Given the description of an element on the screen output the (x, y) to click on. 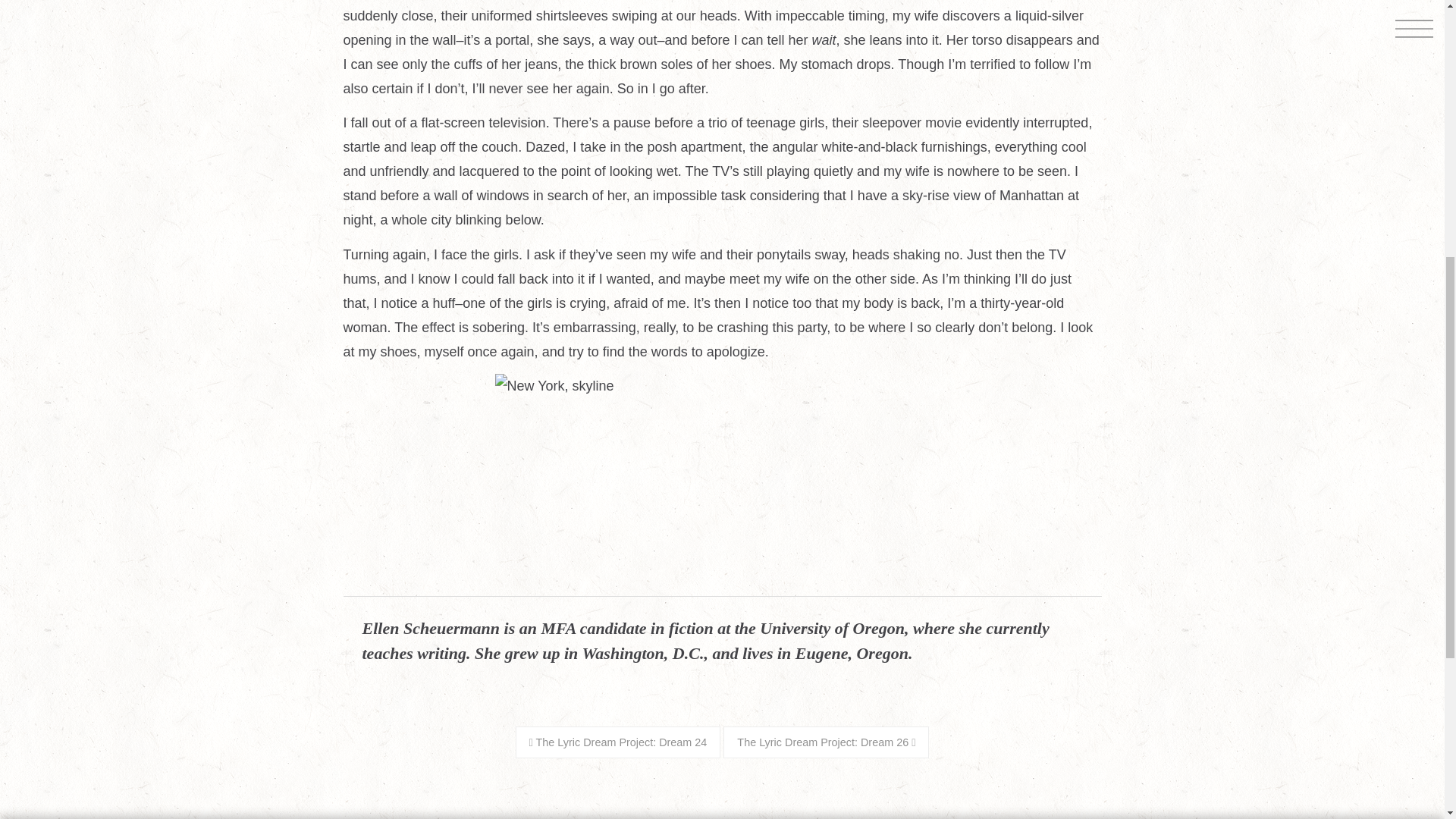
The Lyric Dream Project: Dream 24 (617, 742)
The Lyric Dream Project: Dream 26 (825, 742)
